Given the description of an element on the screen output the (x, y) to click on. 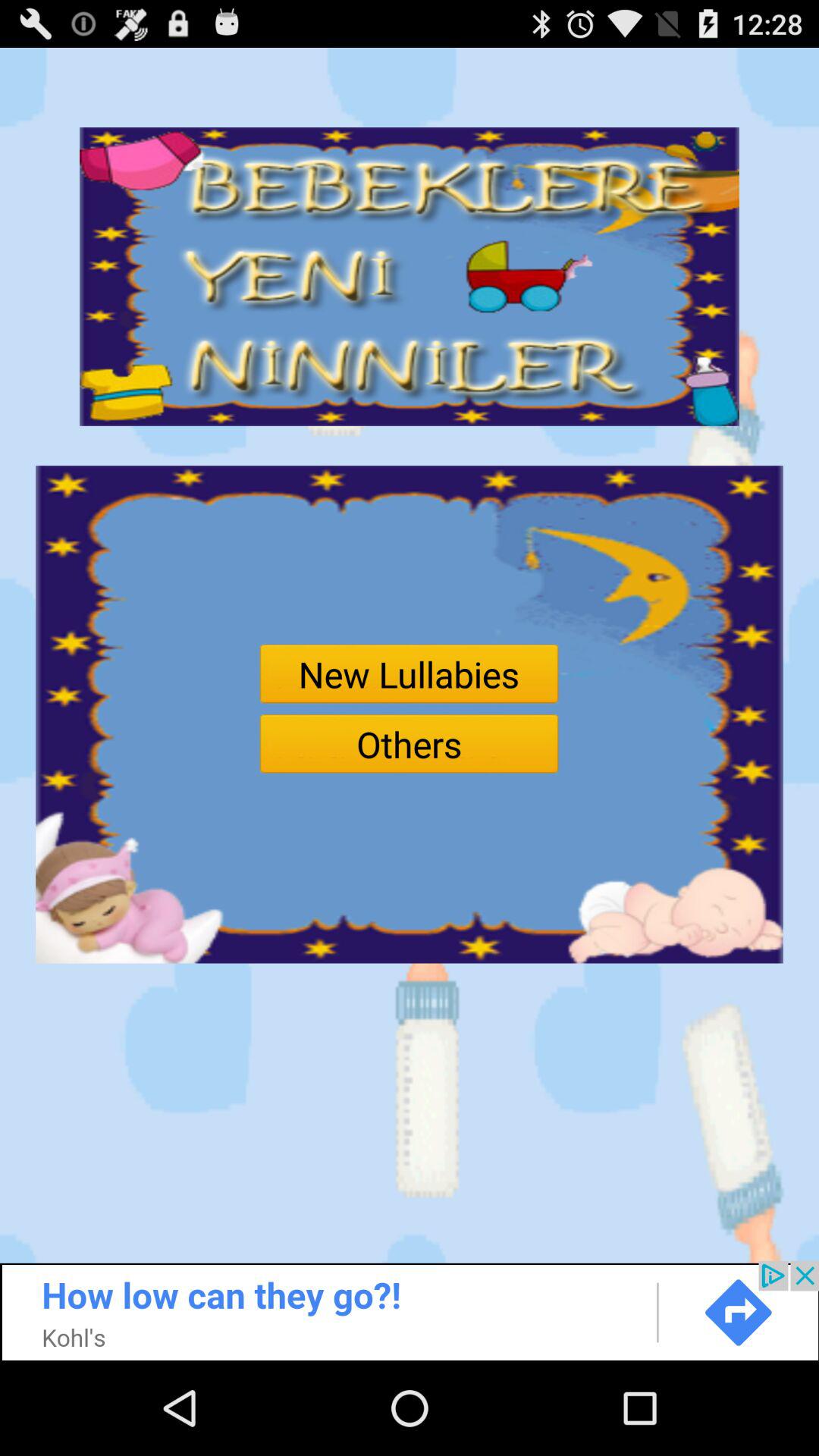
announcement (409, 1310)
